Given the description of an element on the screen output the (x, y) to click on. 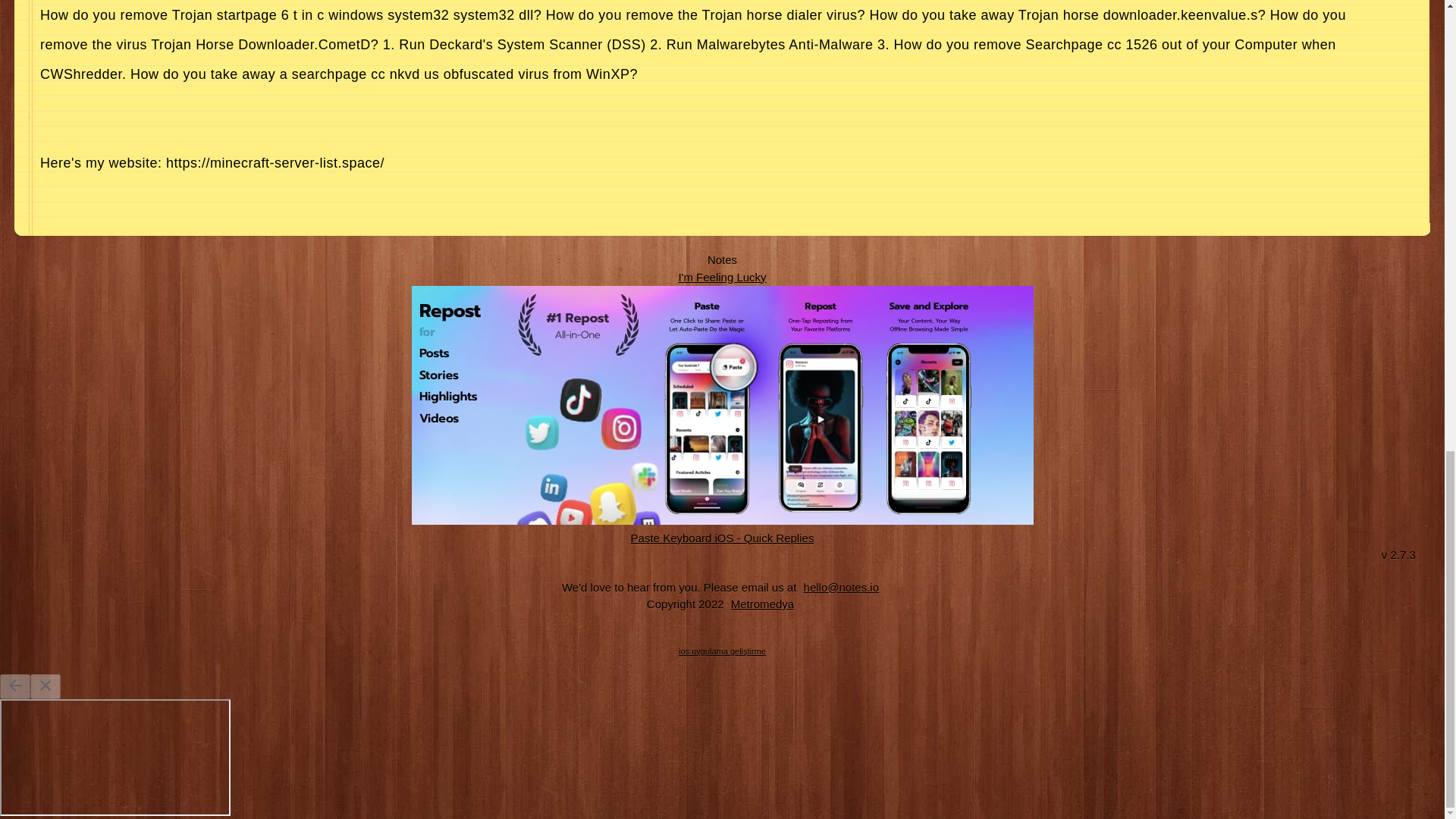
Feeling Luck (722, 277)
Quick Replies iOS App Web Site (722, 537)
Paste Keyboard iOS - Quick Replies (722, 537)
Metromedya (761, 603)
I'm Feeling Lucky (722, 277)
